Given the description of an element on the screen output the (x, y) to click on. 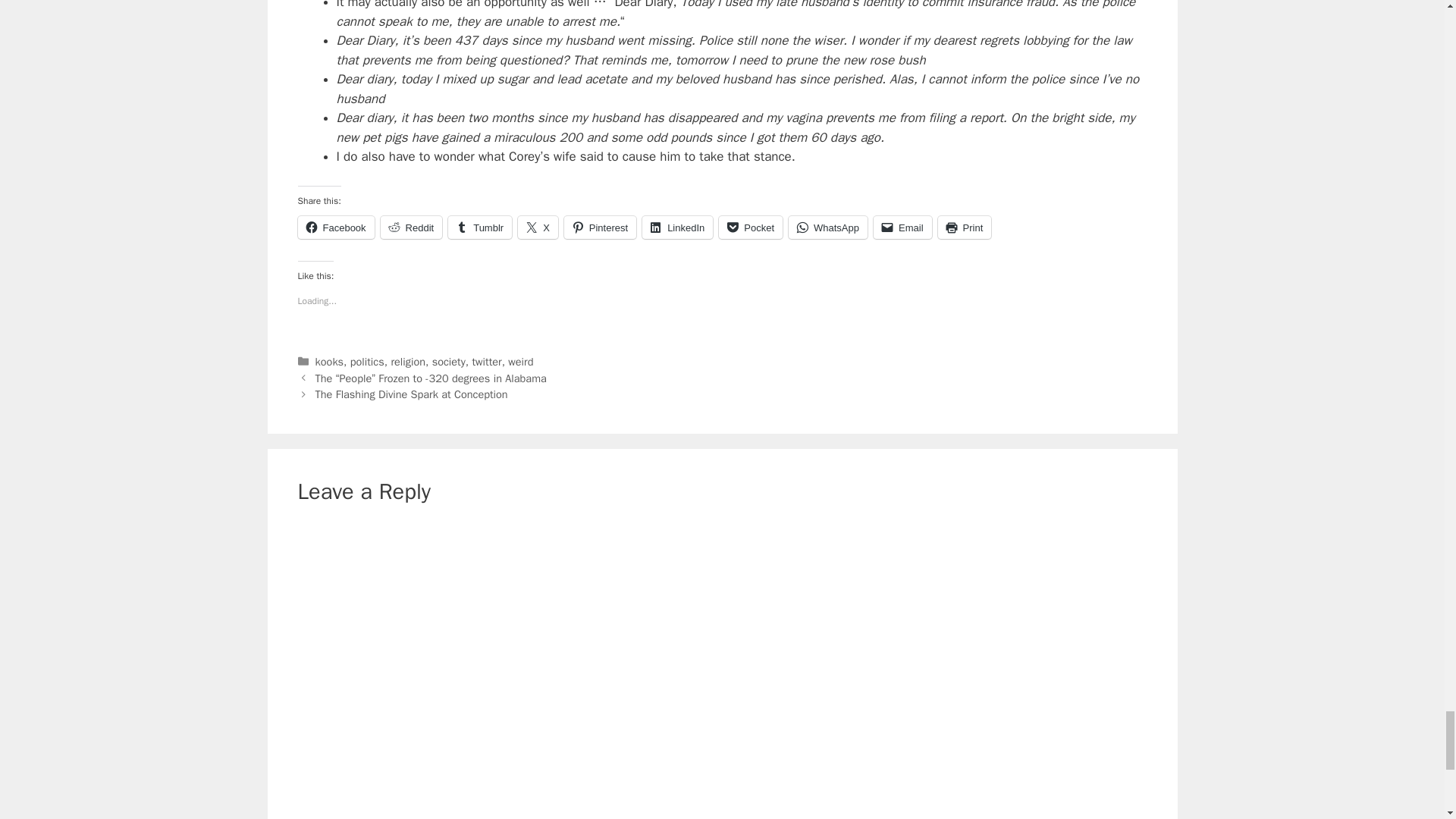
Click to share on WhatsApp (828, 227)
Click to share on X (537, 227)
Click to share on Facebook (335, 227)
Click to share on Reddit (411, 227)
Click to share on Pocket (751, 227)
Click to share on Pinterest (600, 227)
Click to email a link to a friend (902, 227)
Click to share on Tumblr (480, 227)
Click to share on LinkedIn (677, 227)
Click to print (964, 227)
